Given the description of an element on the screen output the (x, y) to click on. 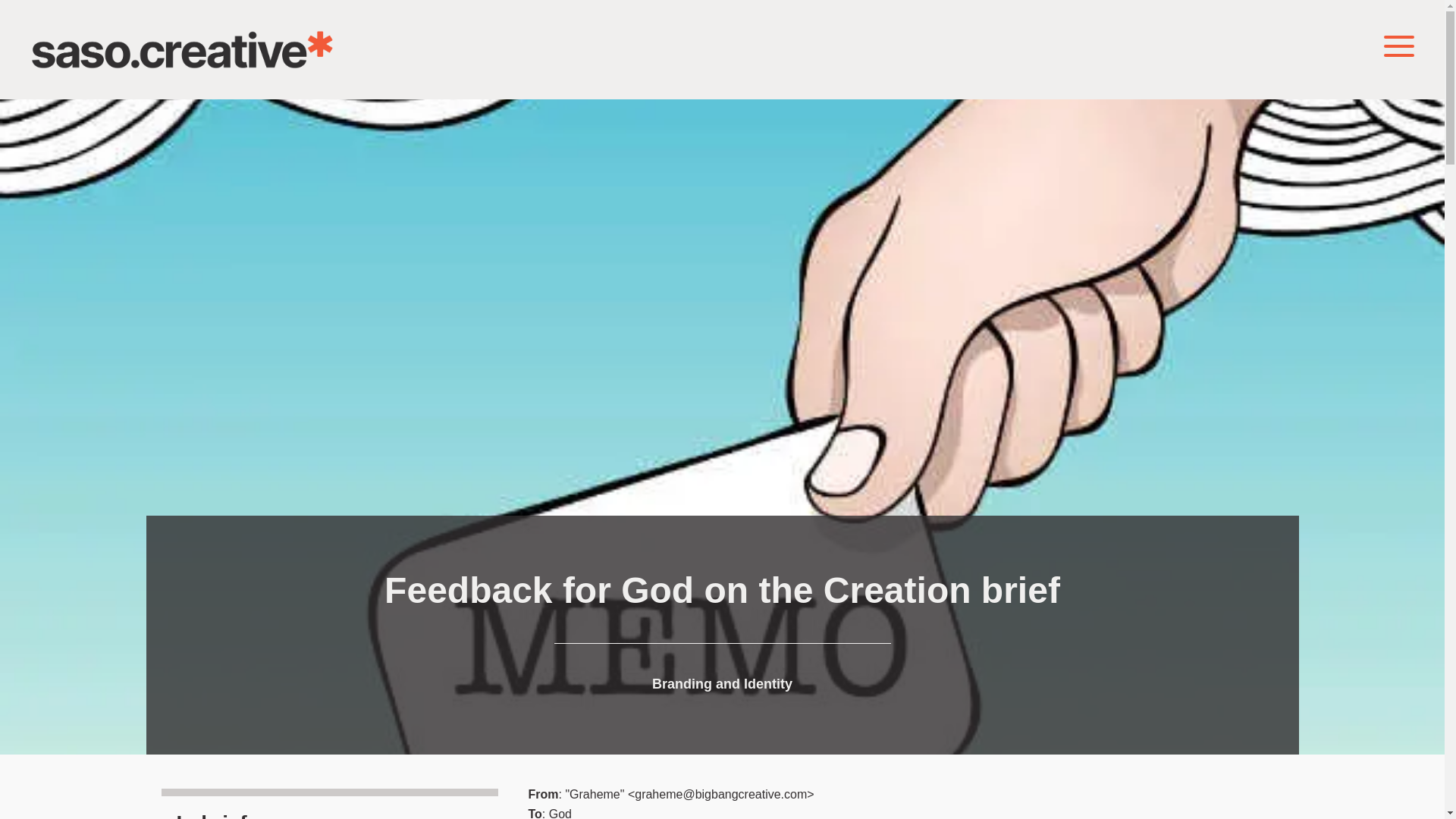
Branding and Identity (722, 683)
